Given the description of an element on the screen output the (x, y) to click on. 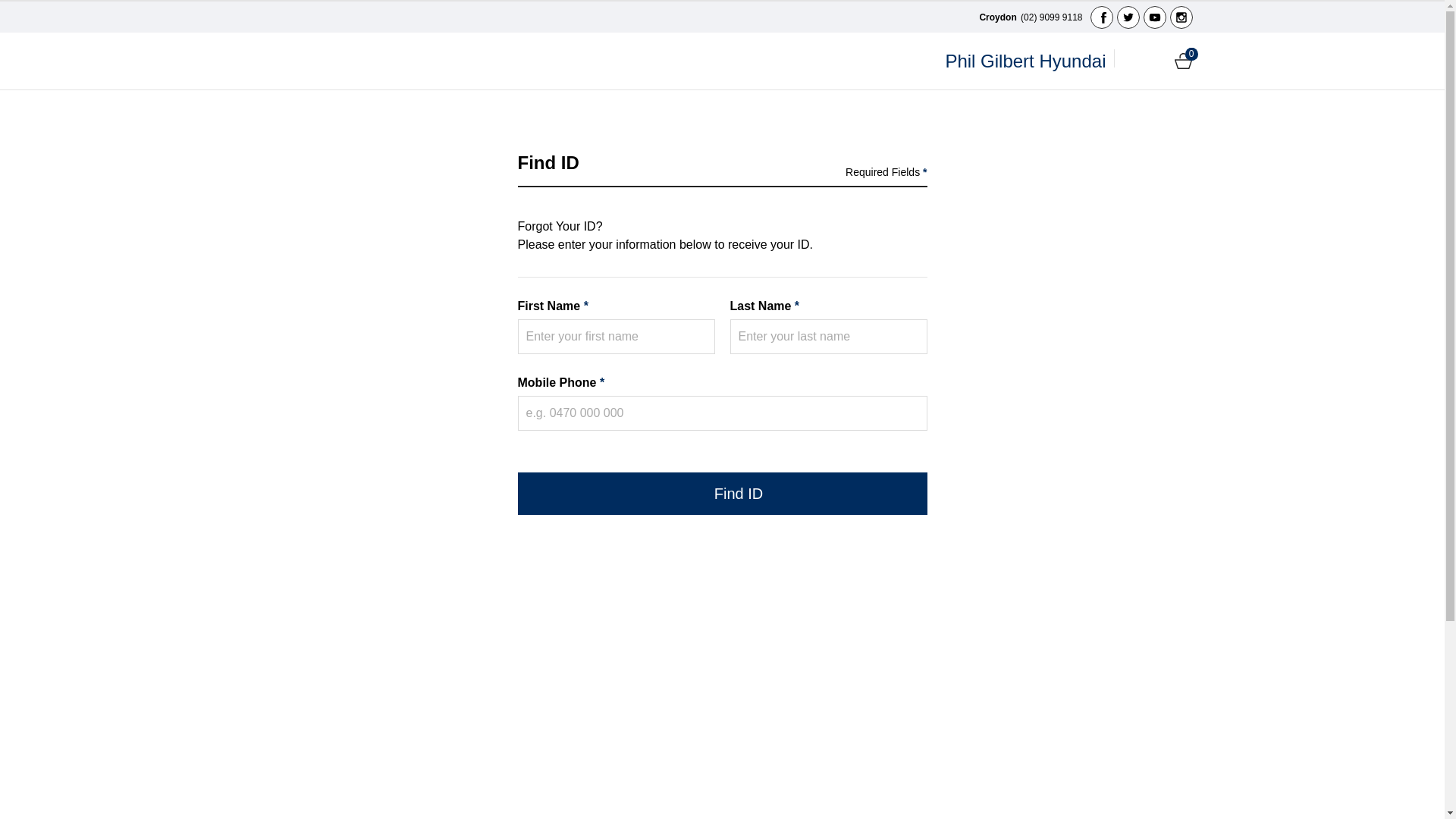
Login Element type: text (1131, 60)
Cart
0 Element type: text (1182, 61)
Signup Element type: text (1157, 60)
Hyundai Motor Company Element type: text (313, 60)
Find ID Element type: text (721, 493)
Twitter Element type: hover (1127, 17)
Croydon Element type: text (997, 17)
(02) 9099 9118 Element type: text (1050, 17)
YouTube Element type: hover (1154, 17)
Facebook Element type: hover (1101, 17)
Instagram Element type: hover (1180, 17)
